Given the description of an element on the screen output the (x, y) to click on. 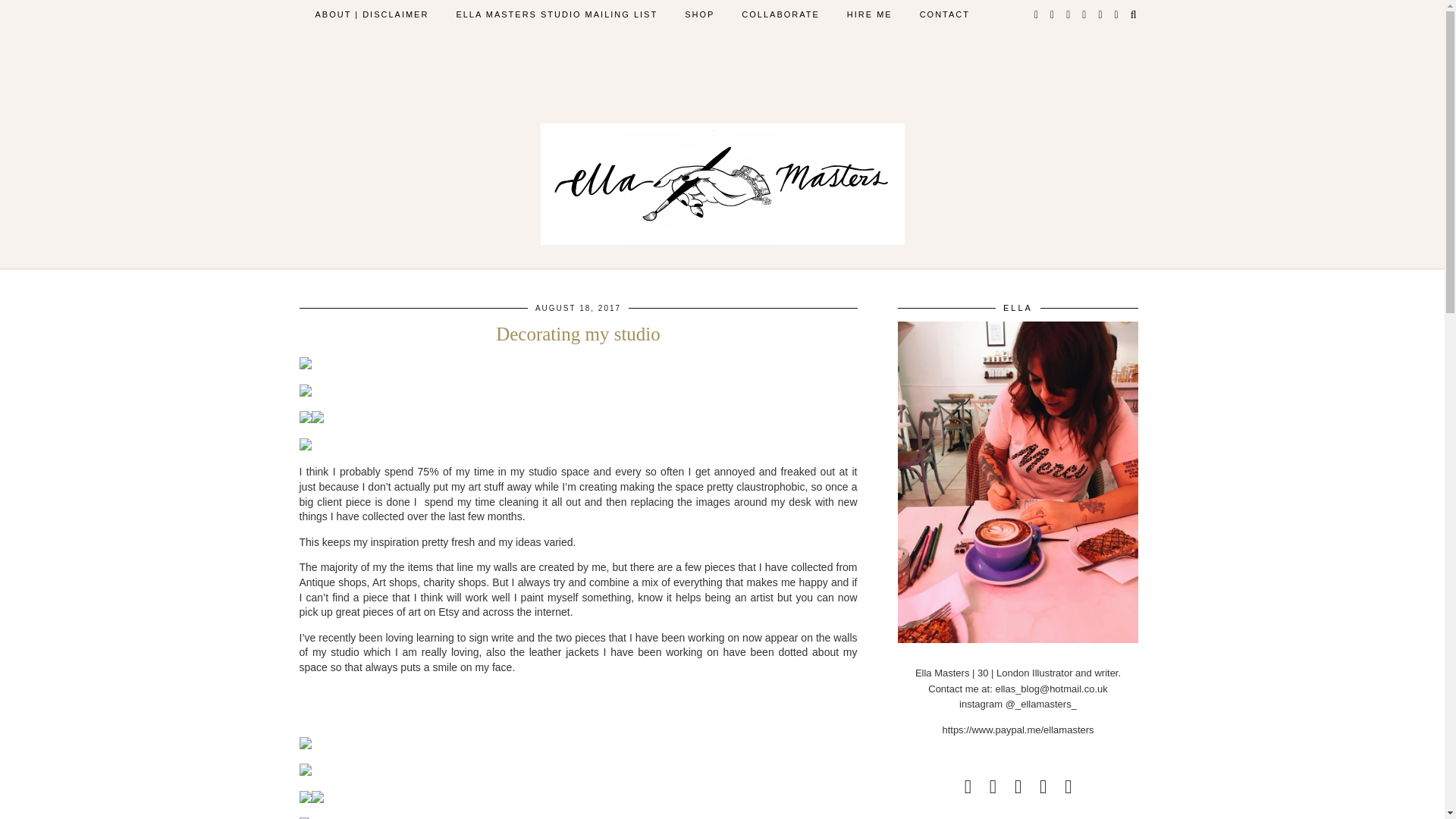
SHOP (699, 14)
CONTACT (944, 14)
HIRE ME (868, 14)
ELLA MASTERS STUDIO MAILING LIST (556, 14)
COLLABORATE (780, 14)
